Given the description of an element on the screen output the (x, y) to click on. 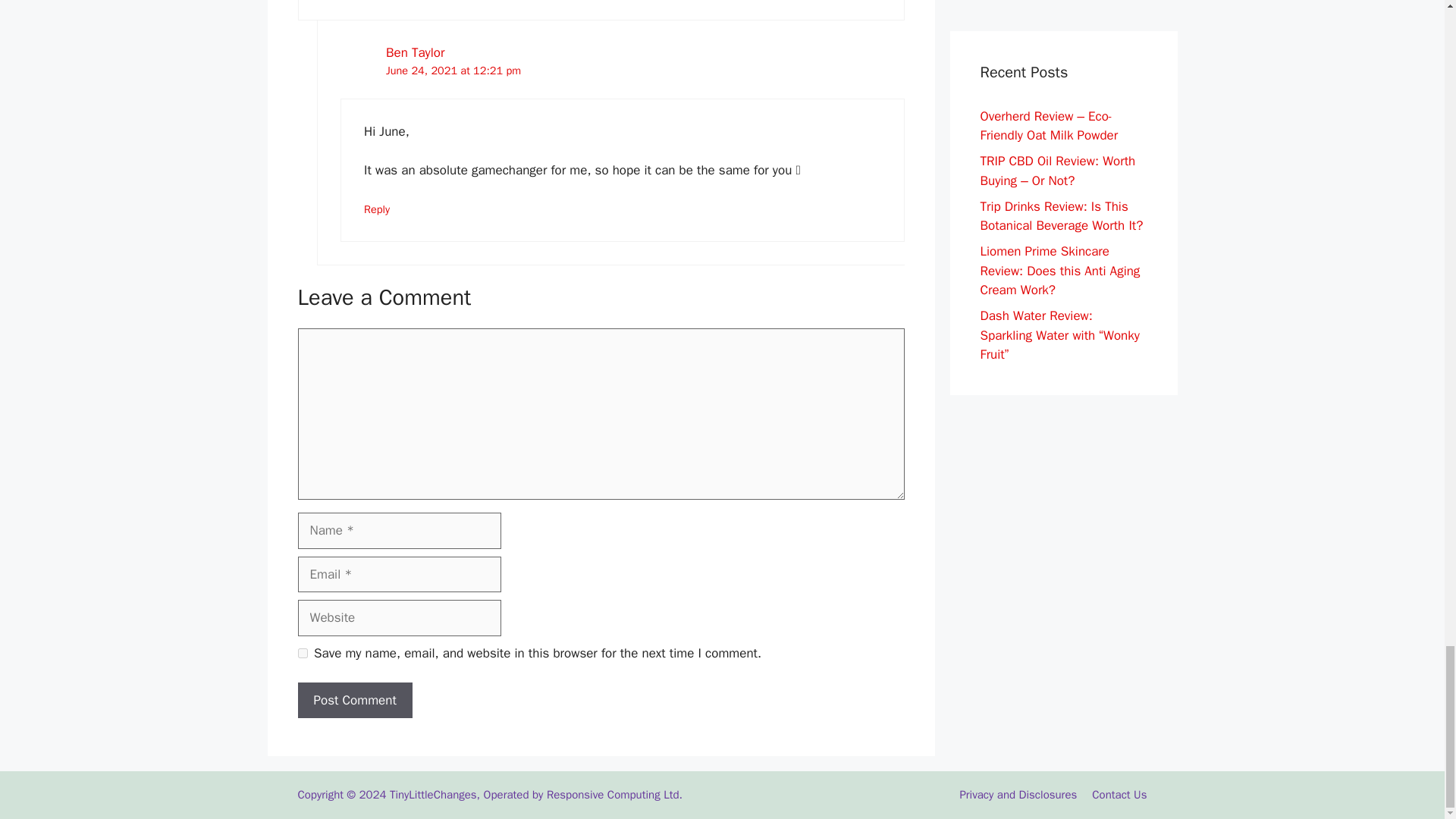
yes (302, 653)
Reply (377, 209)
Ben Taylor (414, 52)
June 24, 2021 at 12:21 pm (453, 69)
Post Comment (354, 700)
Post Comment (354, 700)
